Given the description of an element on the screen output the (x, y) to click on. 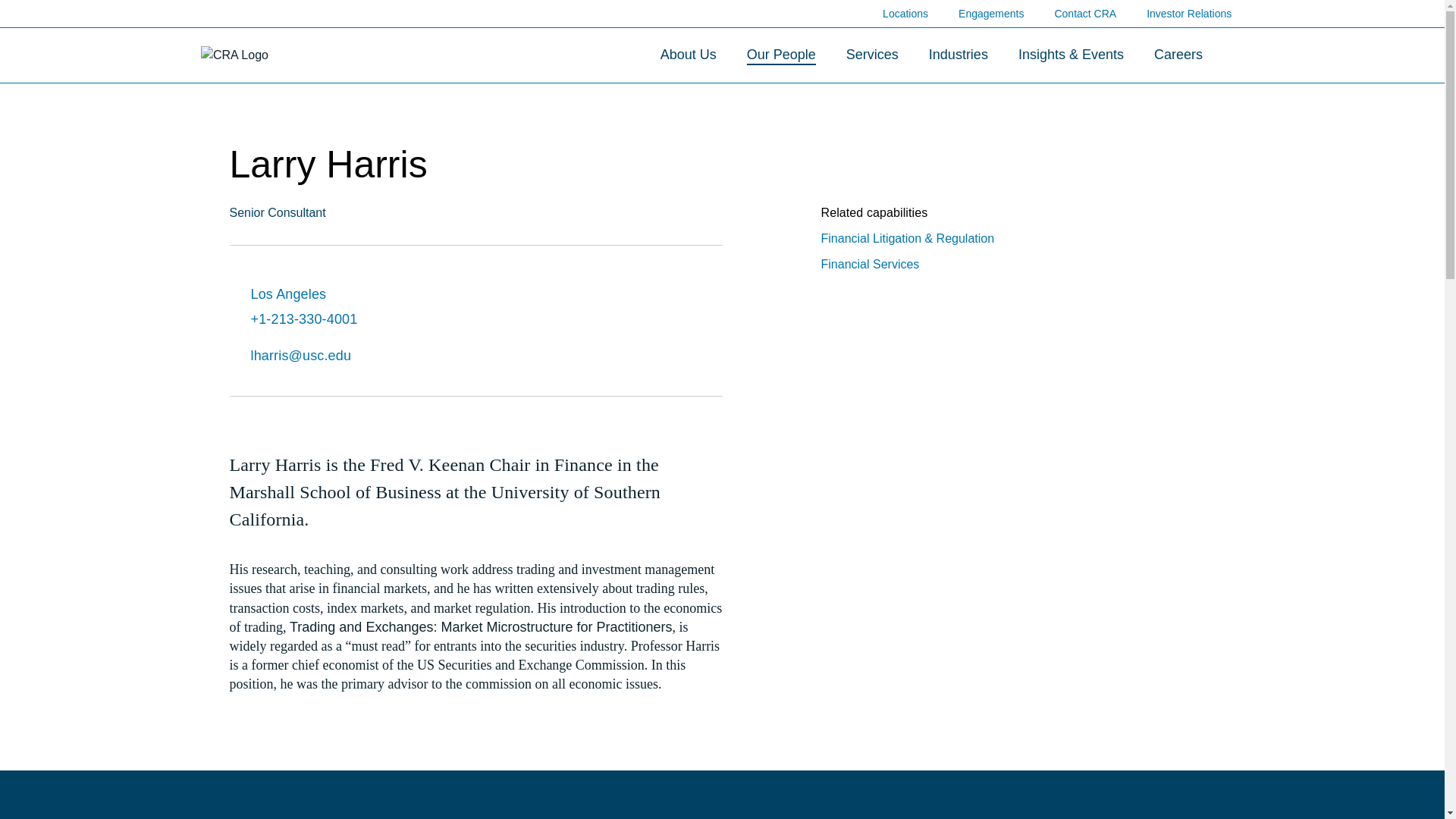
Careers (1178, 55)
Contact CRA (1085, 14)
Engagements (990, 14)
Locations (905, 14)
Our People (780, 55)
Investor Relations (1195, 13)
About Us (688, 55)
Industries (958, 55)
Los Angeles (361, 294)
Financial Services (869, 264)
Services (871, 55)
